Given the description of an element on the screen output the (x, y) to click on. 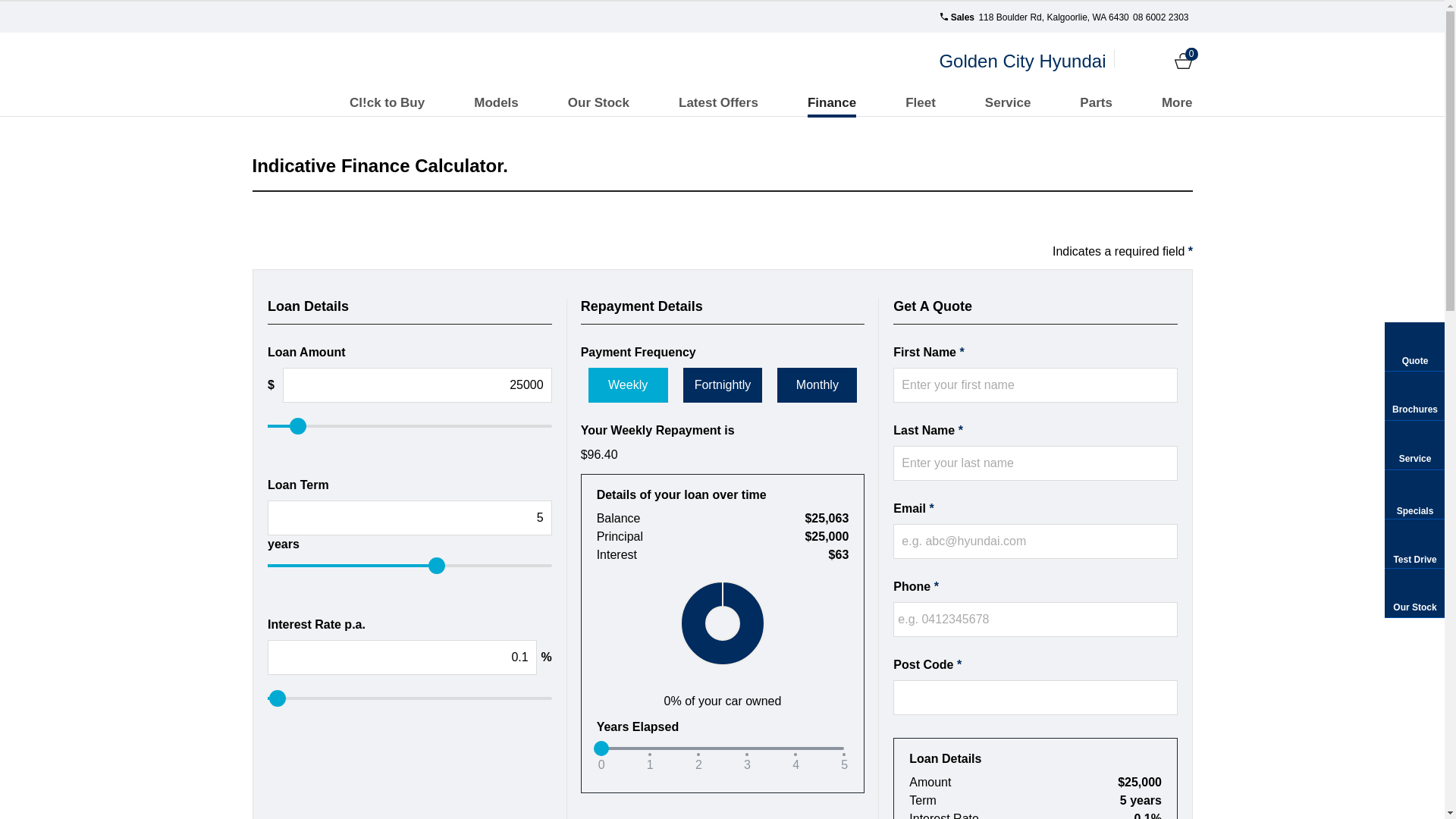
Cart
0 Element type: text (1182, 61)
Our Stock Element type: text (598, 102)
Cl!ck to Buy Element type: text (386, 102)
More Element type: text (1176, 102)
Latest Offers Element type: text (718, 102)
Signup Element type: text (1157, 60)
Models Element type: text (495, 102)
Hyundai Motor Company Element type: text (313, 60)
Parts Element type: text (1095, 102)
Login Element type: text (1131, 60)
118 Boulder Rd, Kalgoorlie, WA 6430 Element type: text (1052, 17)
08 6002 2303 Element type: text (1159, 17)
Finance Element type: text (831, 102)
Service Element type: text (1008, 102)
Fleet Element type: text (920, 102)
